Given the description of an element on the screen output the (x, y) to click on. 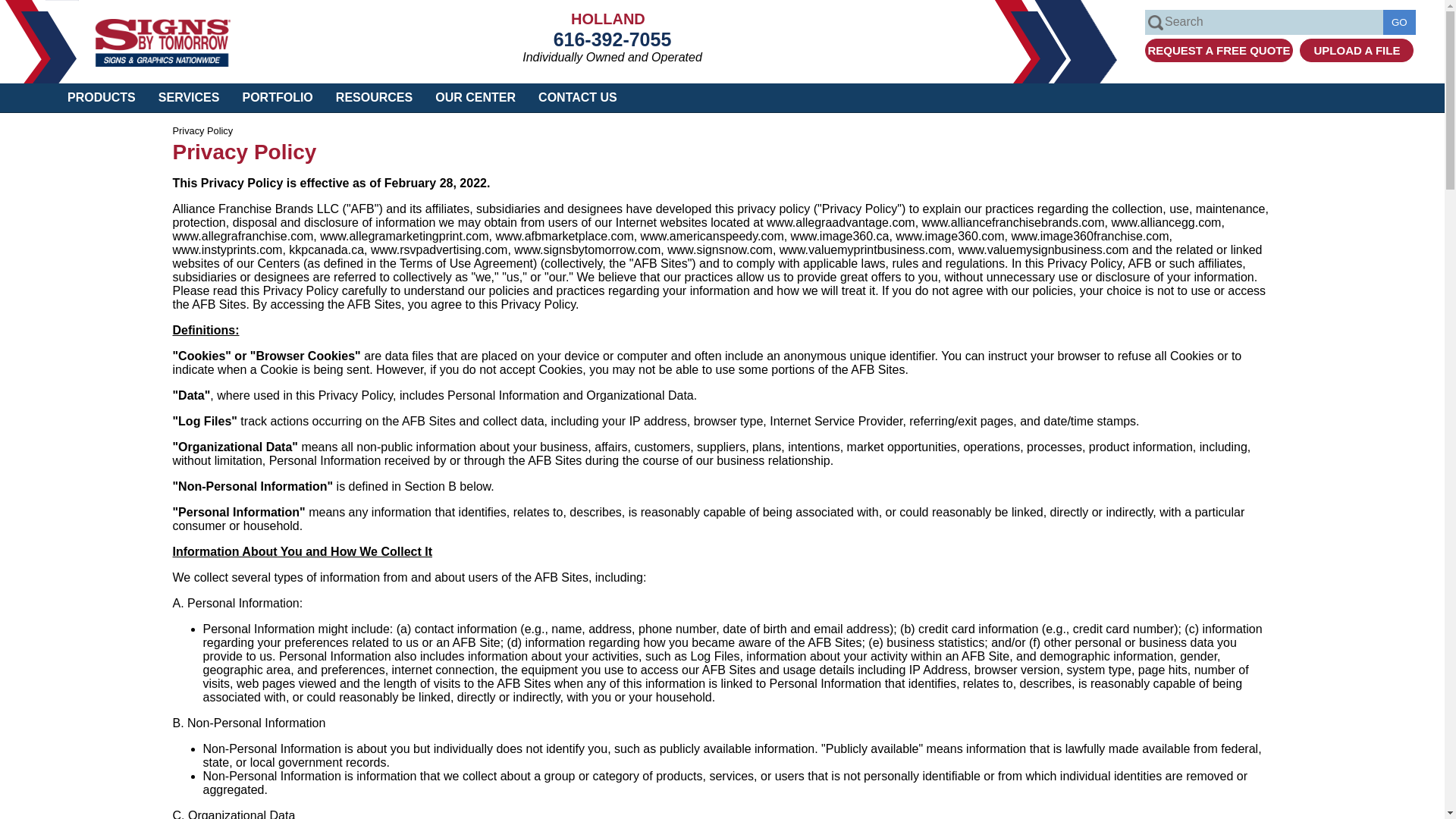
PRODUCTS (101, 97)
Upload a file (1356, 50)
Request A Free Quote (1218, 50)
PORTFOLIO (277, 97)
OUR CENTER (474, 97)
CALL US 616-392-7055 (612, 38)
Signs By Tomorrow (162, 62)
CONTACT US (577, 97)
Go (1399, 22)
616-392-7055 (612, 38)
